Given the description of an element on the screen output the (x, y) to click on. 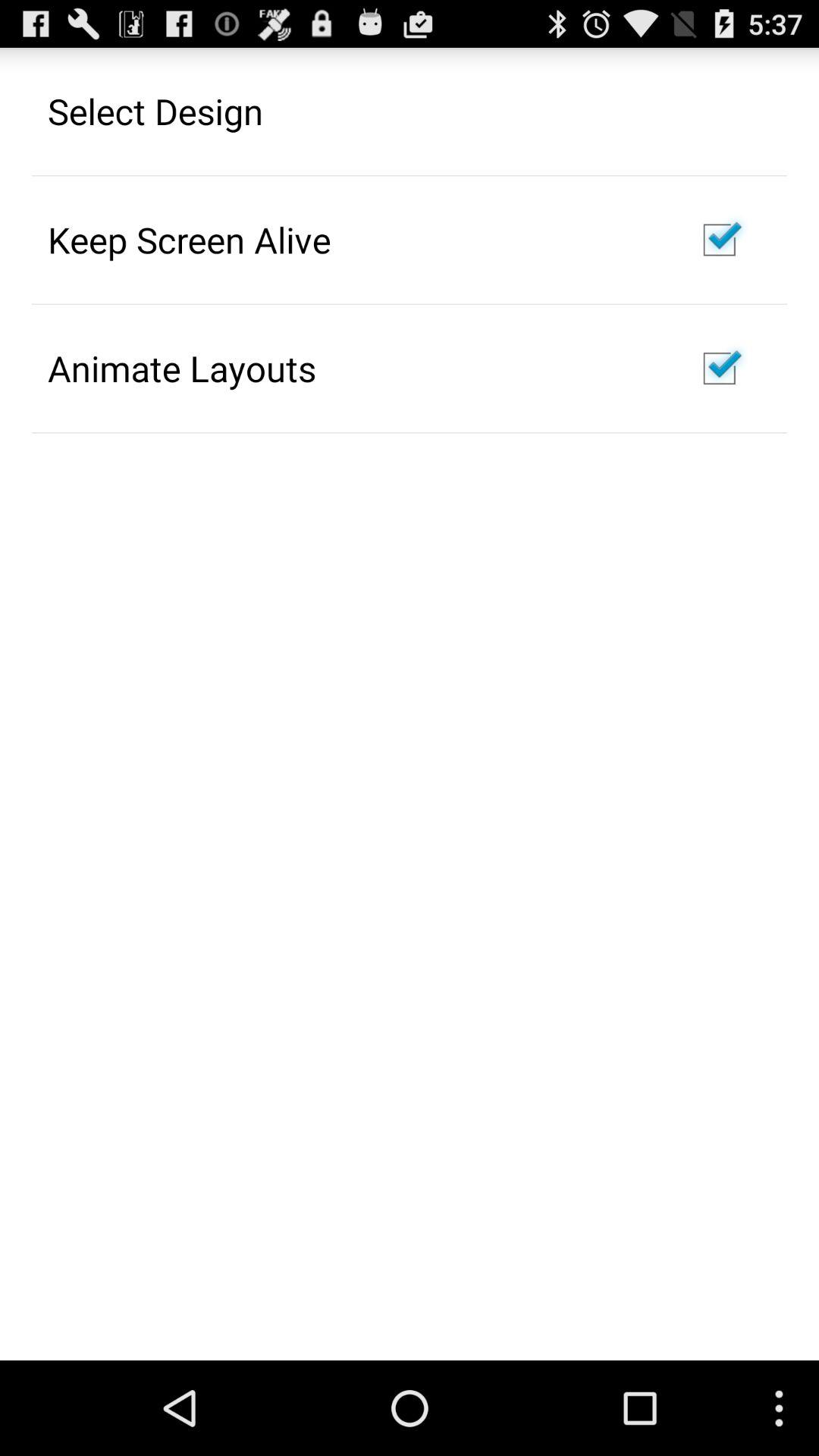
press select design app (155, 111)
